Given the description of an element on the screen output the (x, y) to click on. 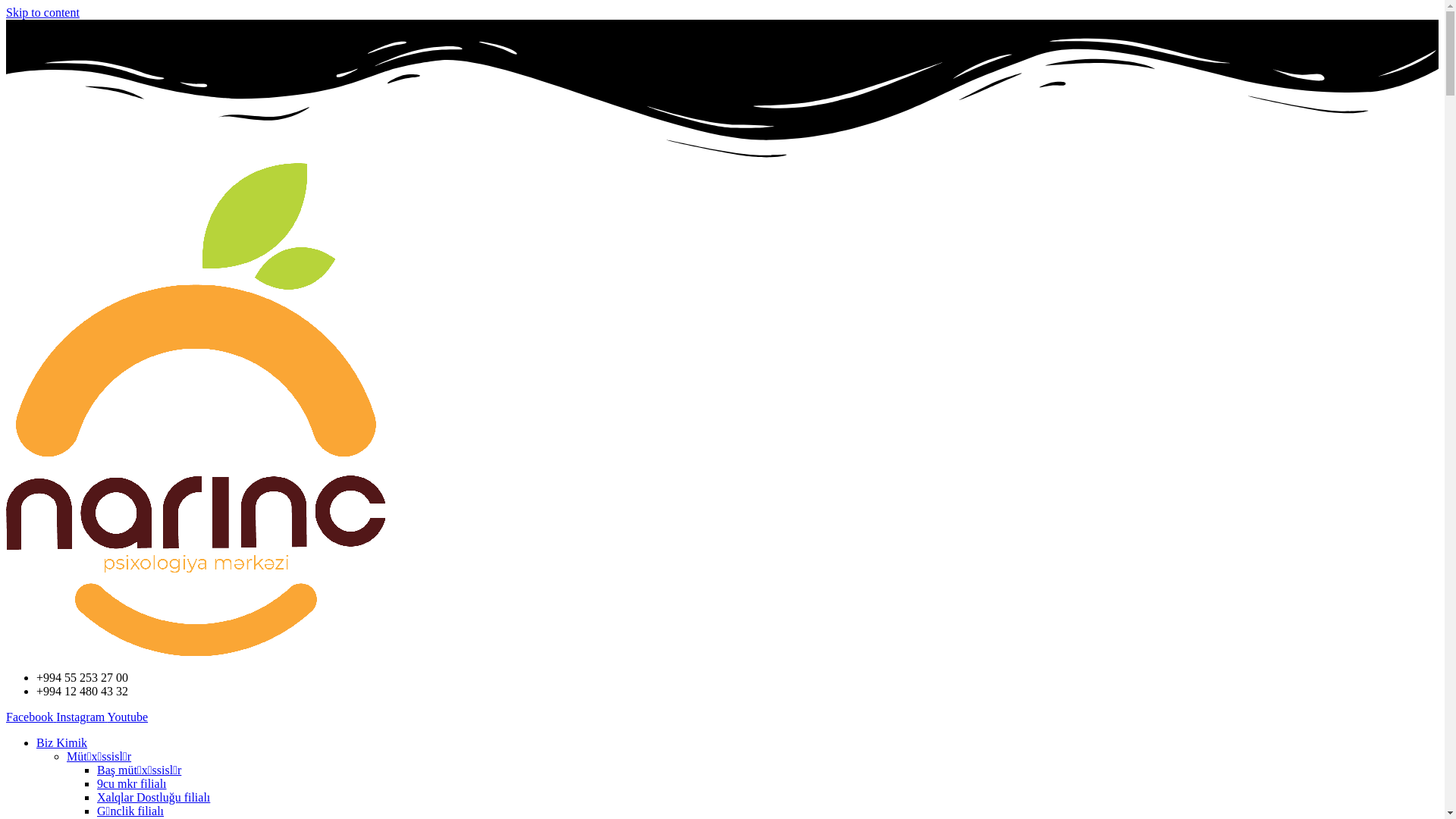
Facebook Element type: text (31, 716)
Biz Kimik Element type: text (61, 742)
Instagram Element type: text (81, 716)
Youtube Element type: text (127, 716)
Skip to content Element type: text (42, 12)
